Given the description of an element on the screen output the (x, y) to click on. 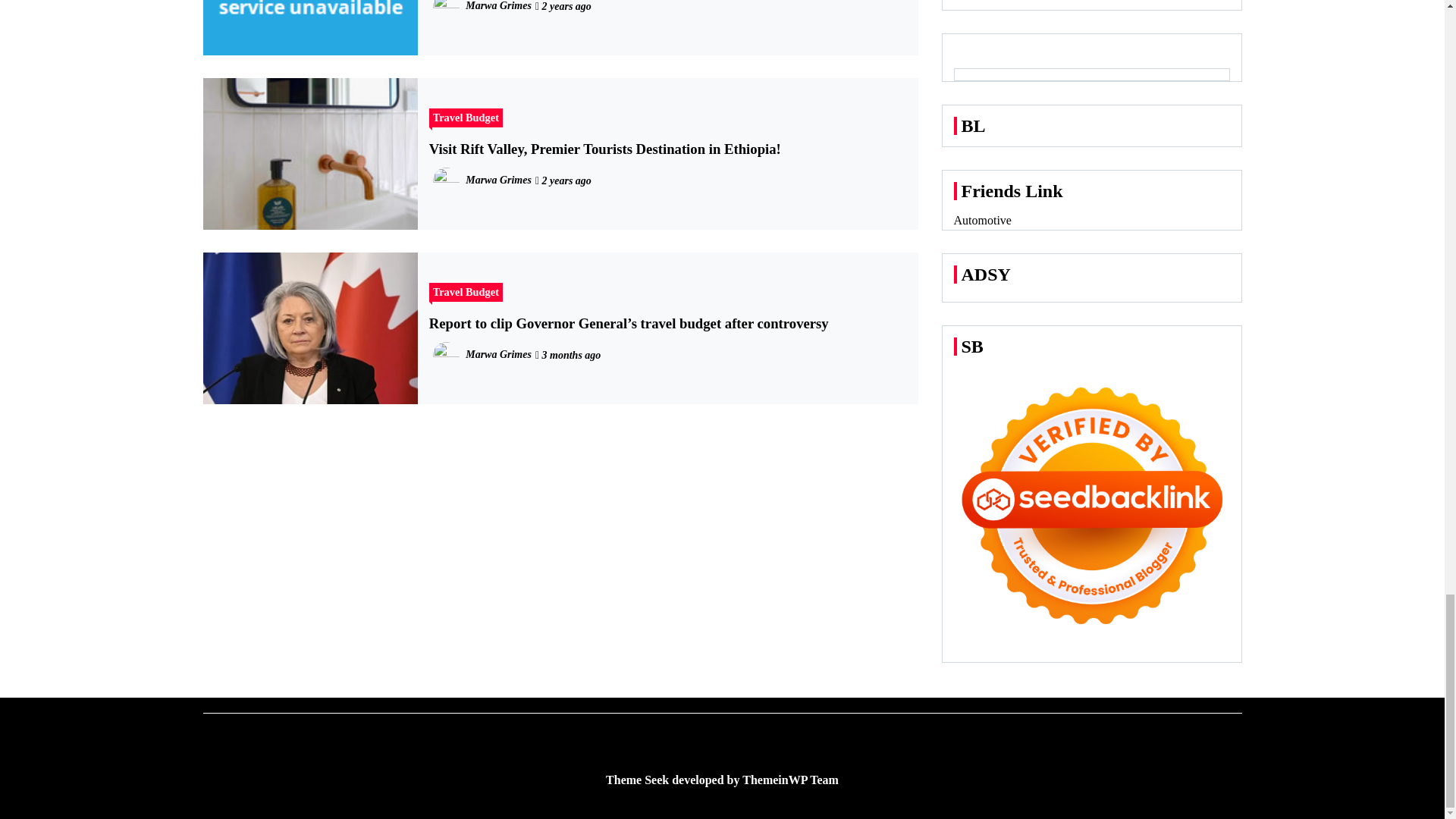
Seedbacklink (1091, 505)
